Given the description of an element on the screen output the (x, y) to click on. 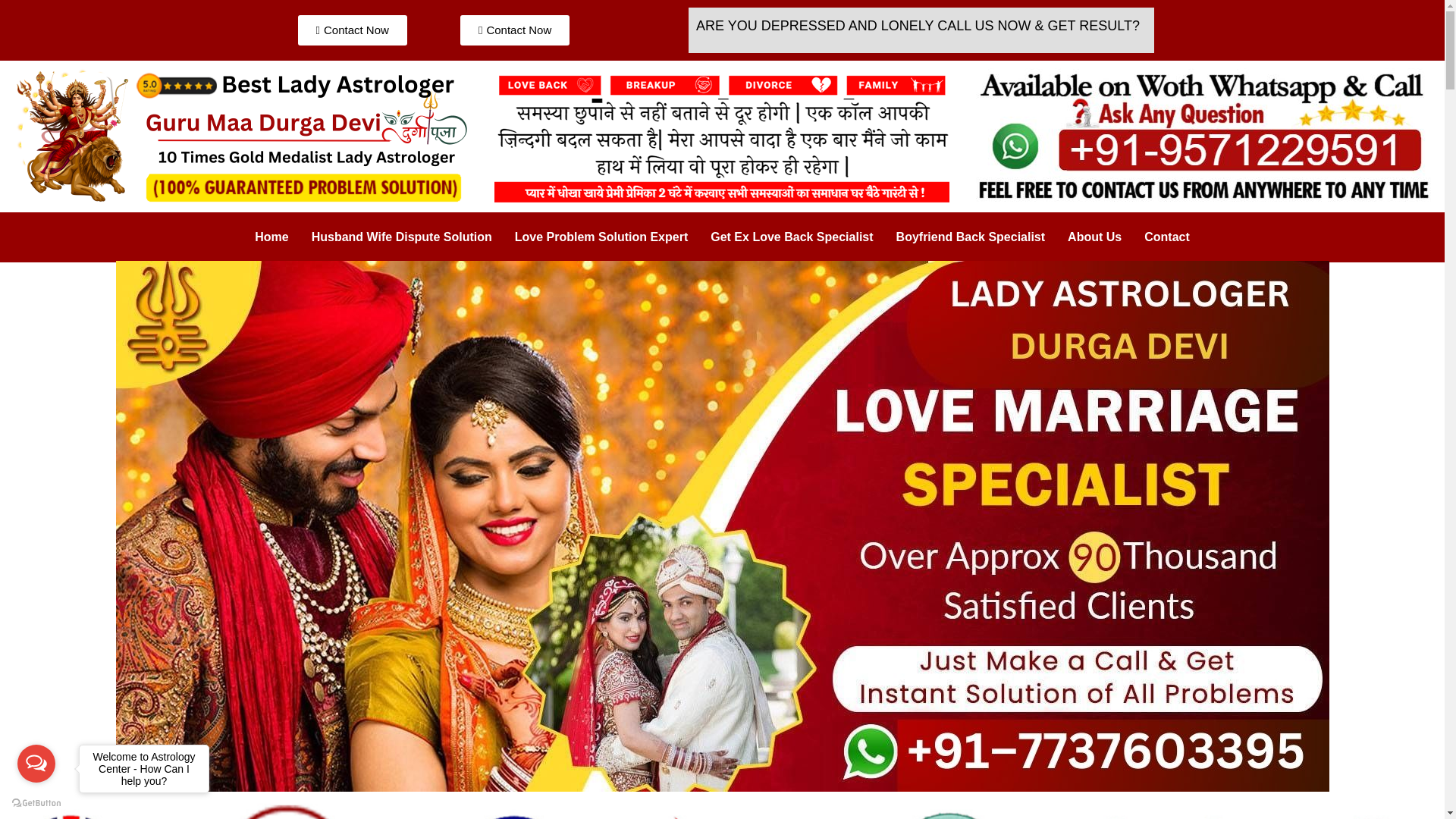
Husband Wife Dispute Solution (401, 237)
Contact Now (514, 30)
Contact Now (351, 30)
About Us (1094, 237)
Love Problem Solution Expert (600, 237)
Get Ex Love Back Specialist (790, 237)
Home (271, 237)
Boyfriend Back Specialist (971, 237)
Contact (1166, 237)
